Given the description of an element on the screen output the (x, y) to click on. 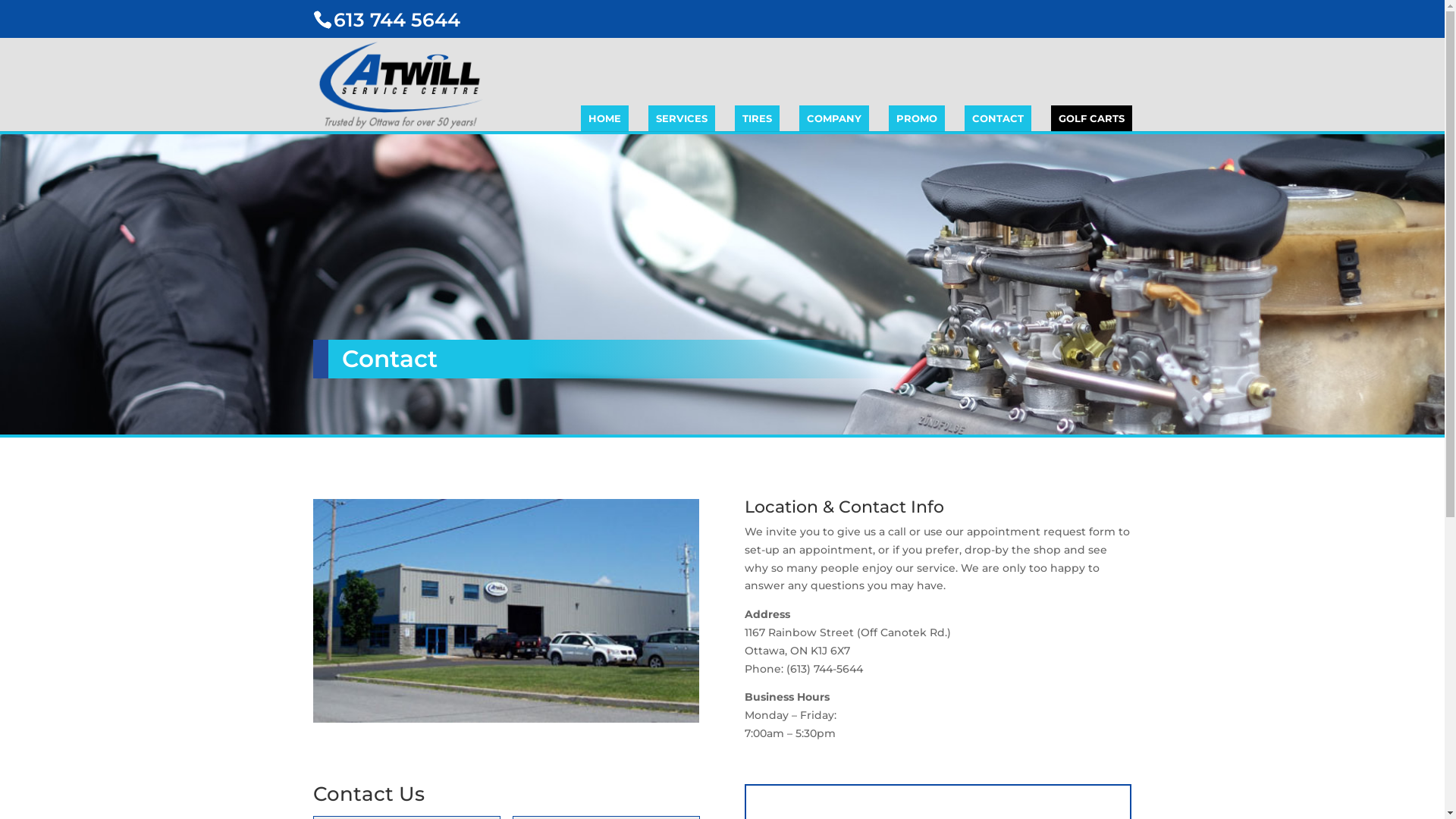
COMPANY Element type: text (834, 118)
SERVICES Element type: text (680, 118)
photo_home Element type: hover (505, 610)
TIRES Element type: text (756, 118)
PROMO Element type: text (916, 118)
HOME Element type: text (604, 118)
GOLF CARTS Element type: text (1091, 118)
CONTACT Element type: text (997, 118)
